Given the description of an element on the screen output the (x, y) to click on. 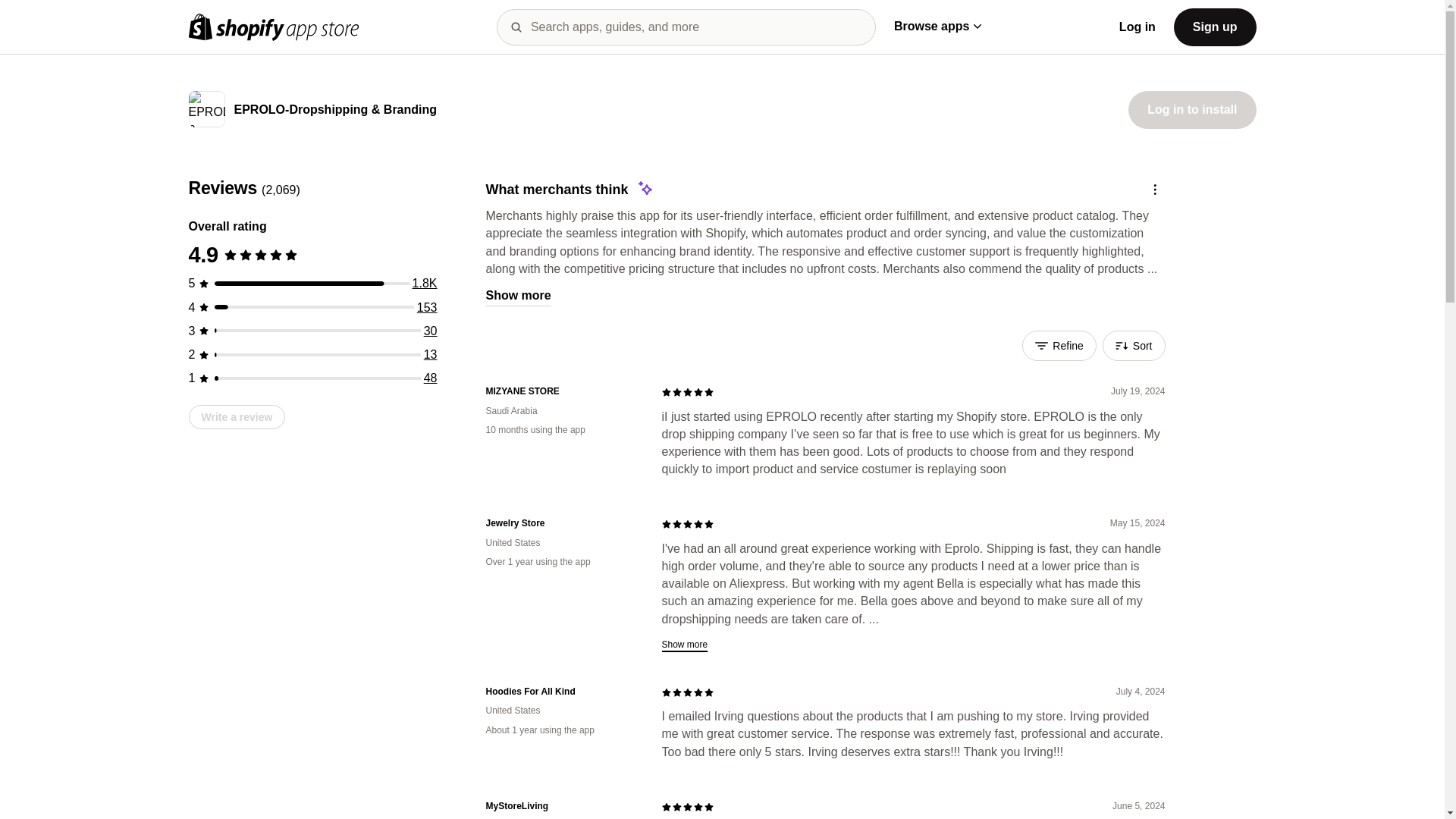
MyStoreLiving (560, 806)
30 (430, 330)
Browse apps (937, 26)
Log in (1137, 27)
48 (430, 377)
Jewelry Store (560, 522)
13 (430, 354)
MIZYANE STORE (560, 391)
154 (427, 307)
Hoodies For All Kind (560, 691)
